Given the description of an element on the screen output the (x, y) to click on. 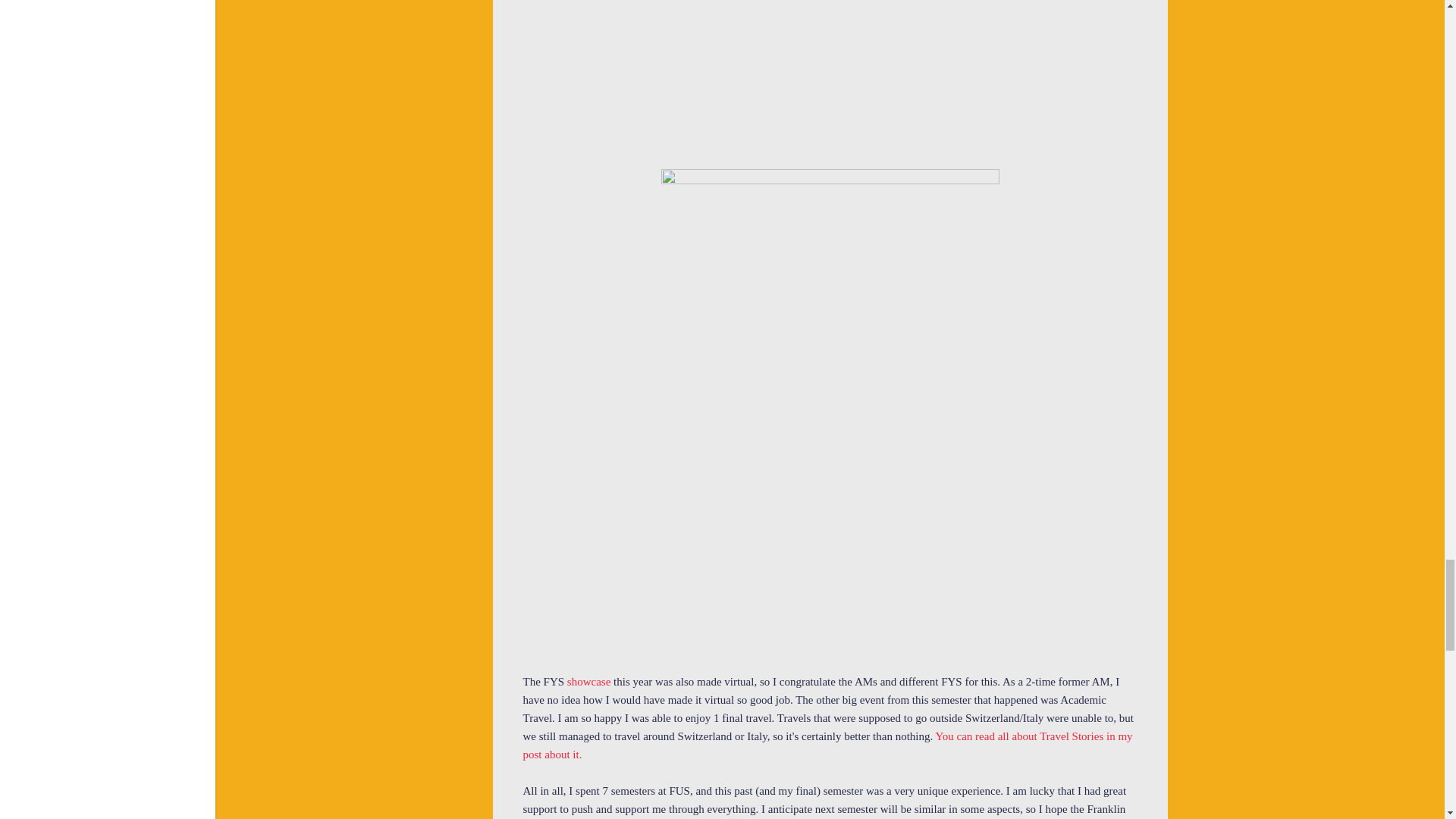
You can read all about Travel Stories in my post about it. (827, 744)
showcase (589, 680)
